Given the description of an element on the screen output the (x, y) to click on. 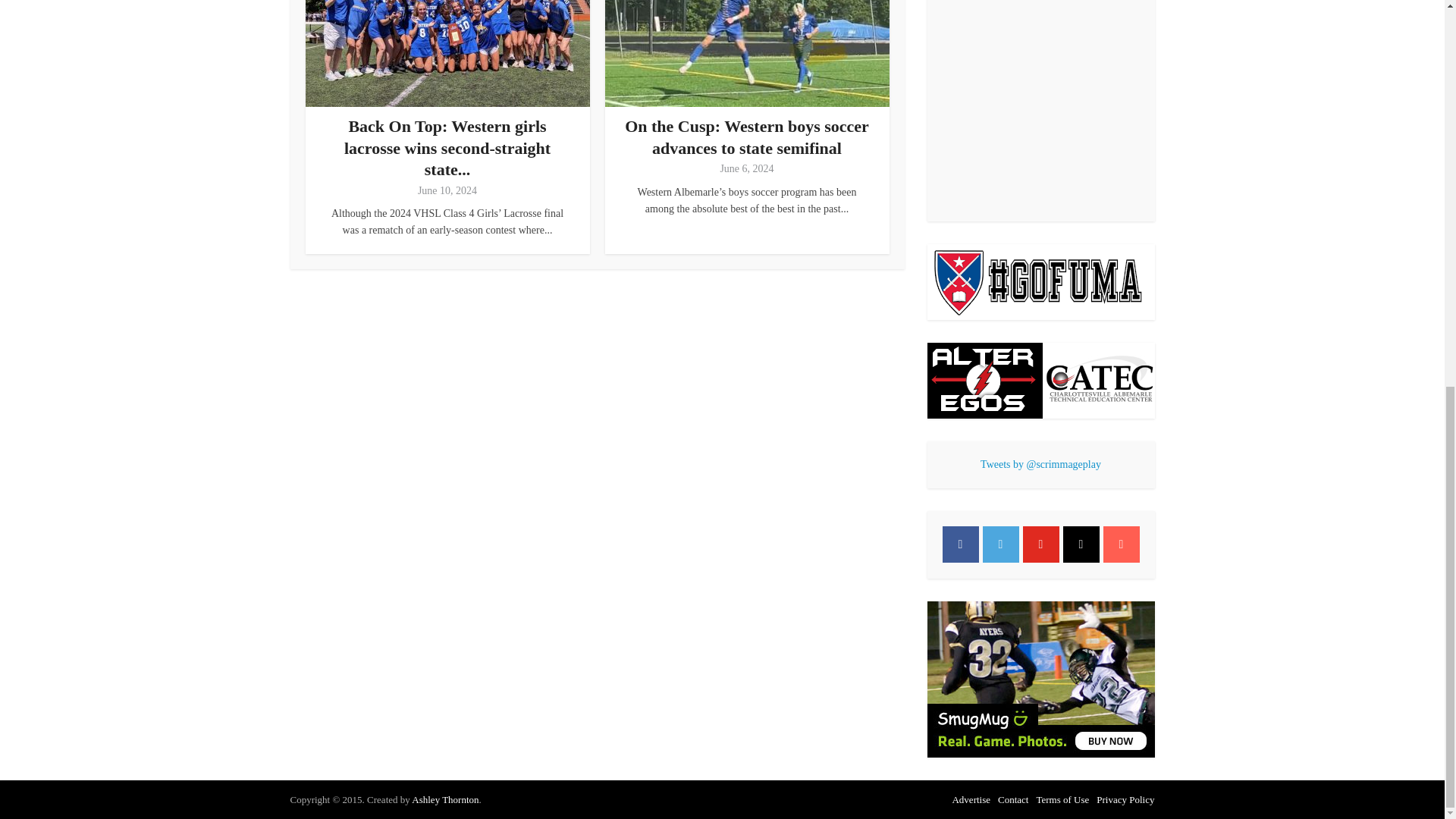
Facebook (960, 544)
iTunes (1120, 544)
Advertisement (1040, 108)
YouTube (1040, 544)
On the Cusp: Western boys soccer advances to state semifinal (746, 137)
Instagram (1080, 544)
Twitter (1000, 544)
